Given the description of an element on the screen output the (x, y) to click on. 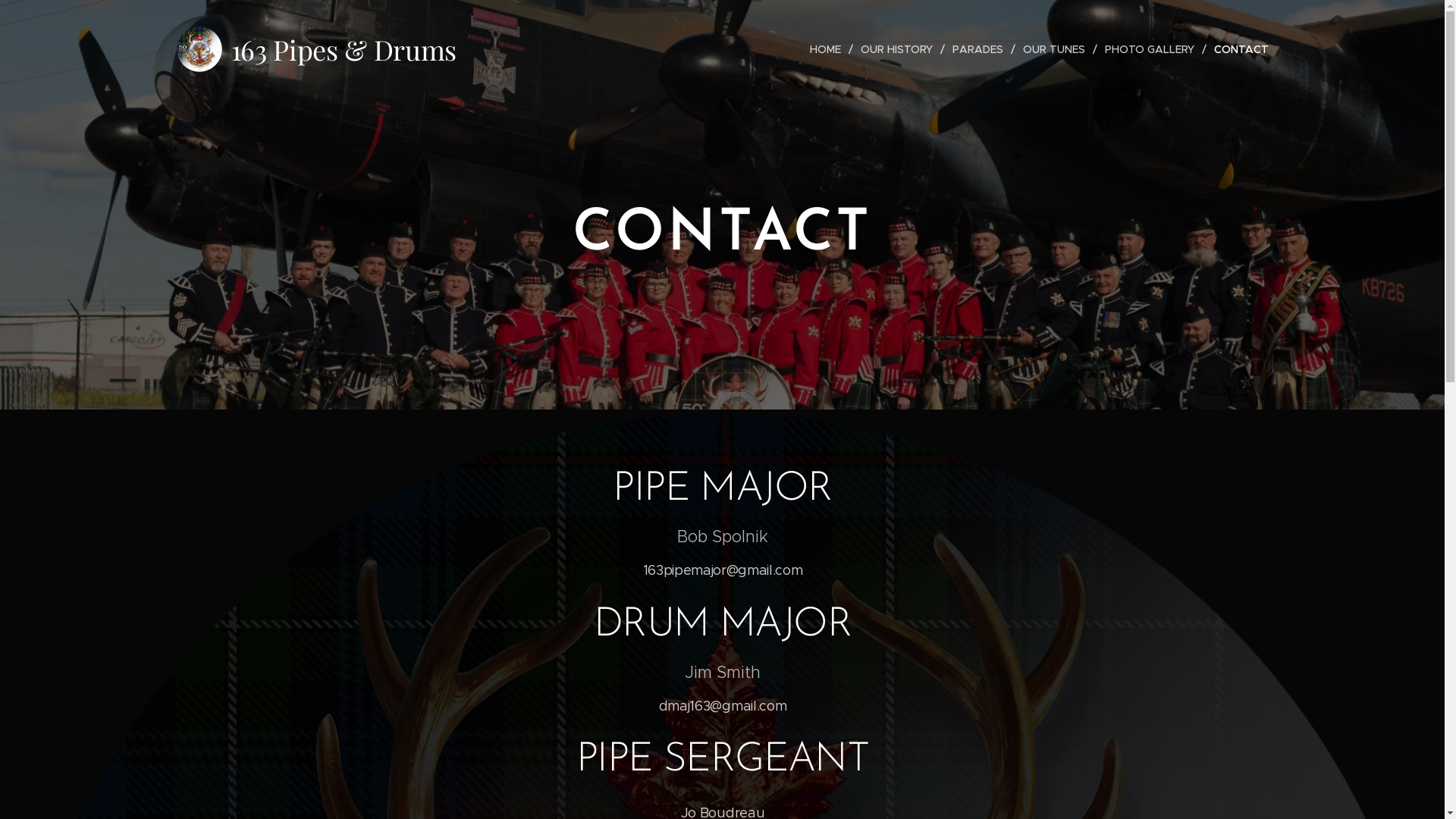
163 Pipes & Drums Element type: text (318, 49)
OUR HISTORY Element type: text (898, 49)
OUR TUNES Element type: text (1055, 49)
PHOTO GALLERY Element type: text (1150, 49)
PARADES Element type: text (979, 49)
HOME Element type: text (828, 49)
CONTACT Element type: text (1236, 49)
